Given the description of an element on the screen output the (x, y) to click on. 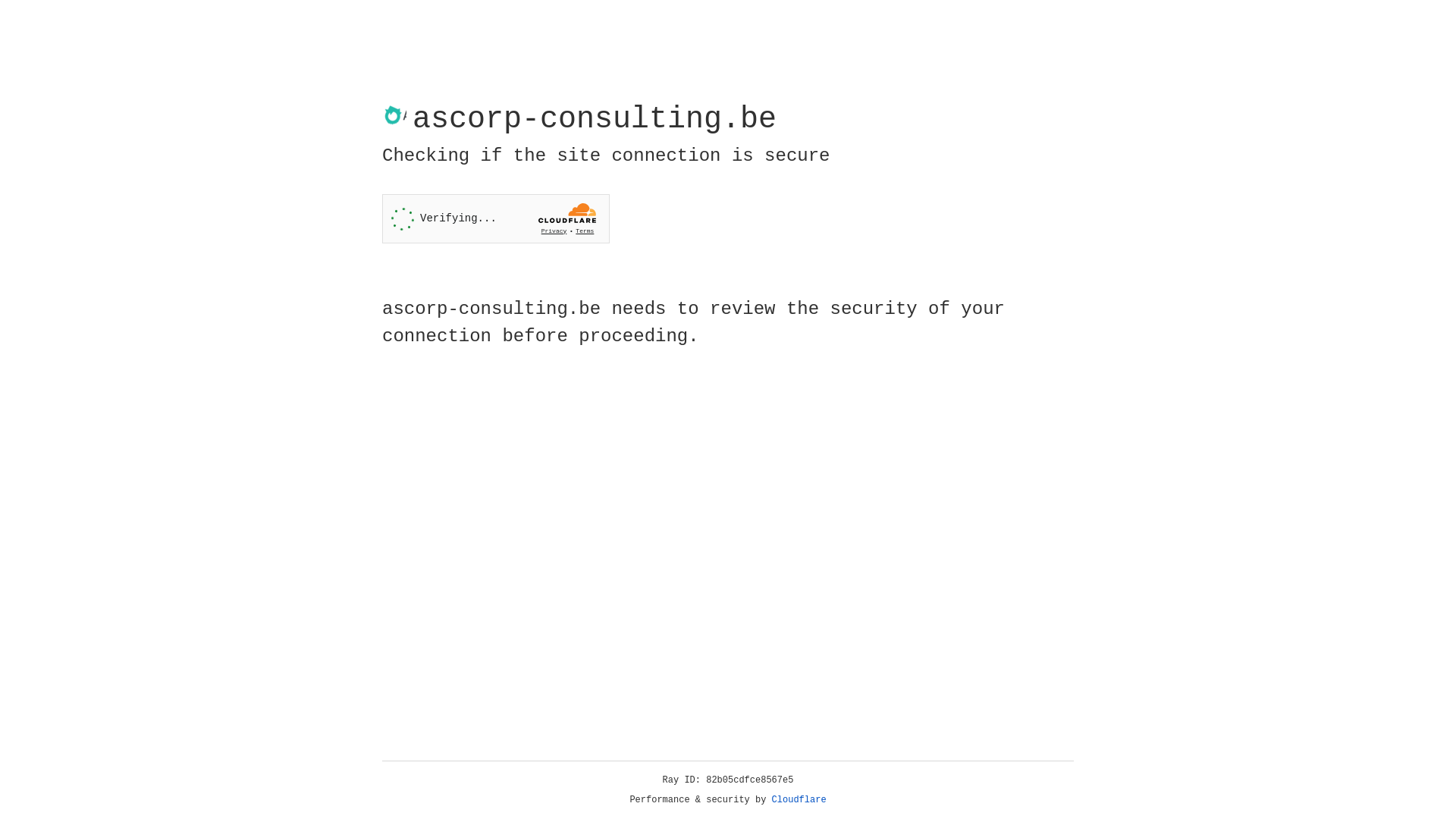
Cloudflare Element type: text (798, 799)
Widget containing a Cloudflare security challenge Element type: hover (495, 218)
